Given the description of an element on the screen output the (x, y) to click on. 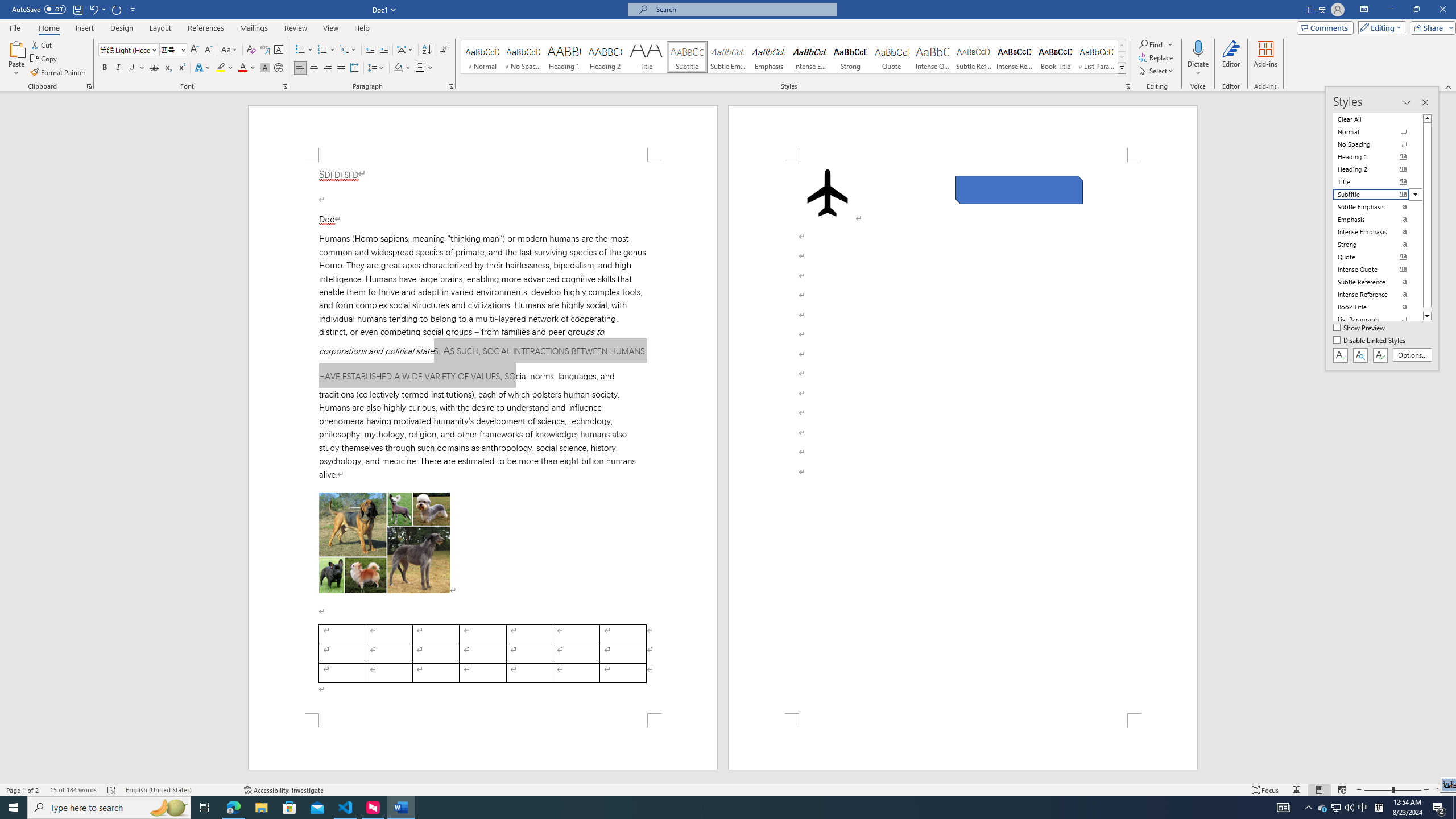
Align Left (300, 67)
Superscript (180, 67)
Italic (118, 67)
Font Color RGB(255, 0, 0) (241, 67)
Accessibility Checker Accessibility: Investigate (283, 790)
Page 2 content (963, 437)
Font... (285, 85)
Editing (1379, 27)
Intense Reference (1014, 56)
Class: NetUIImage (1121, 68)
System (6, 6)
Dictate (1197, 58)
Morphological variation in six dogs (383, 542)
Clear All (1377, 119)
